Given the description of an element on the screen output the (x, y) to click on. 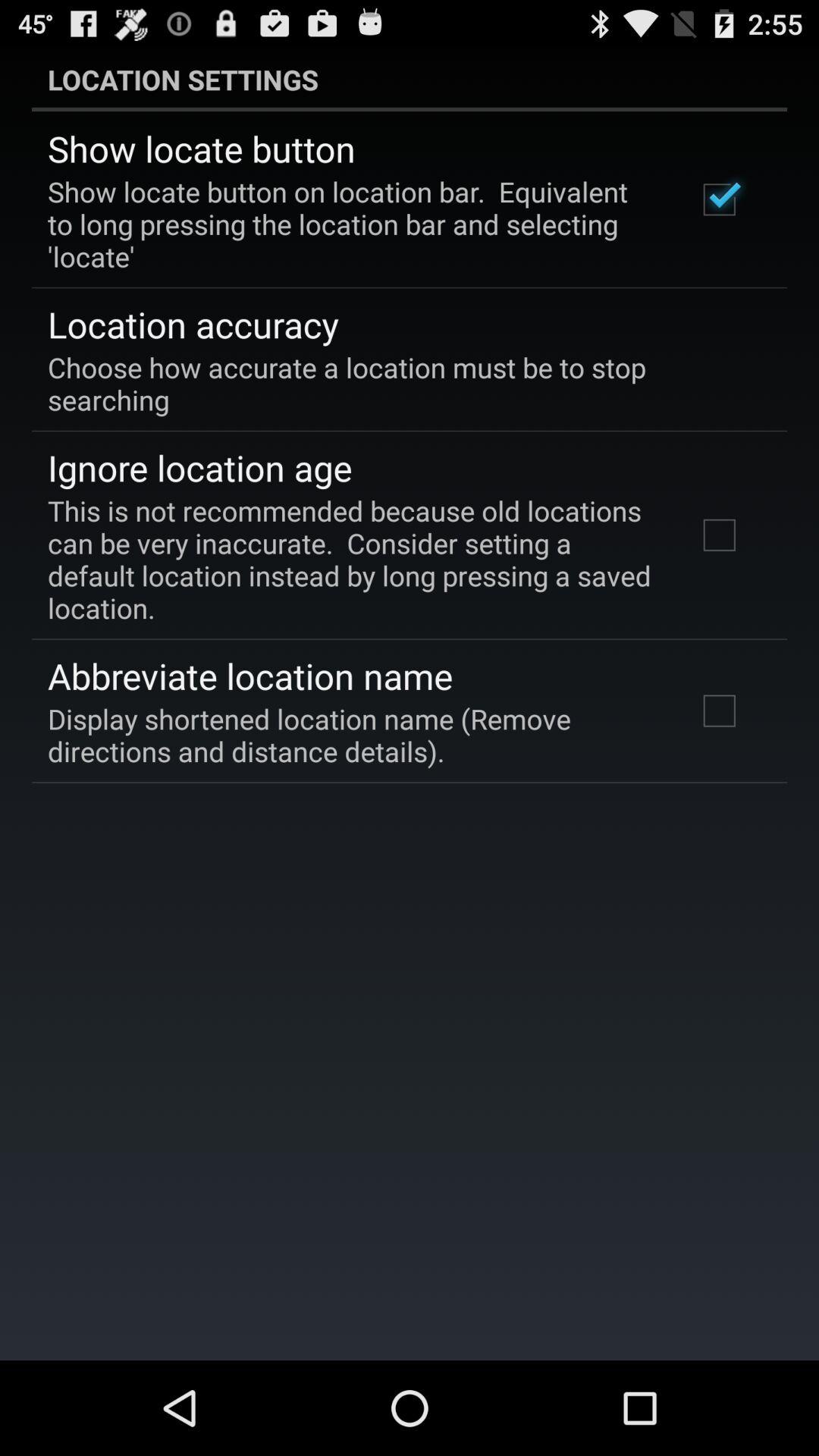
flip until the choose how accurate icon (399, 383)
